Given the description of an element on the screen output the (x, y) to click on. 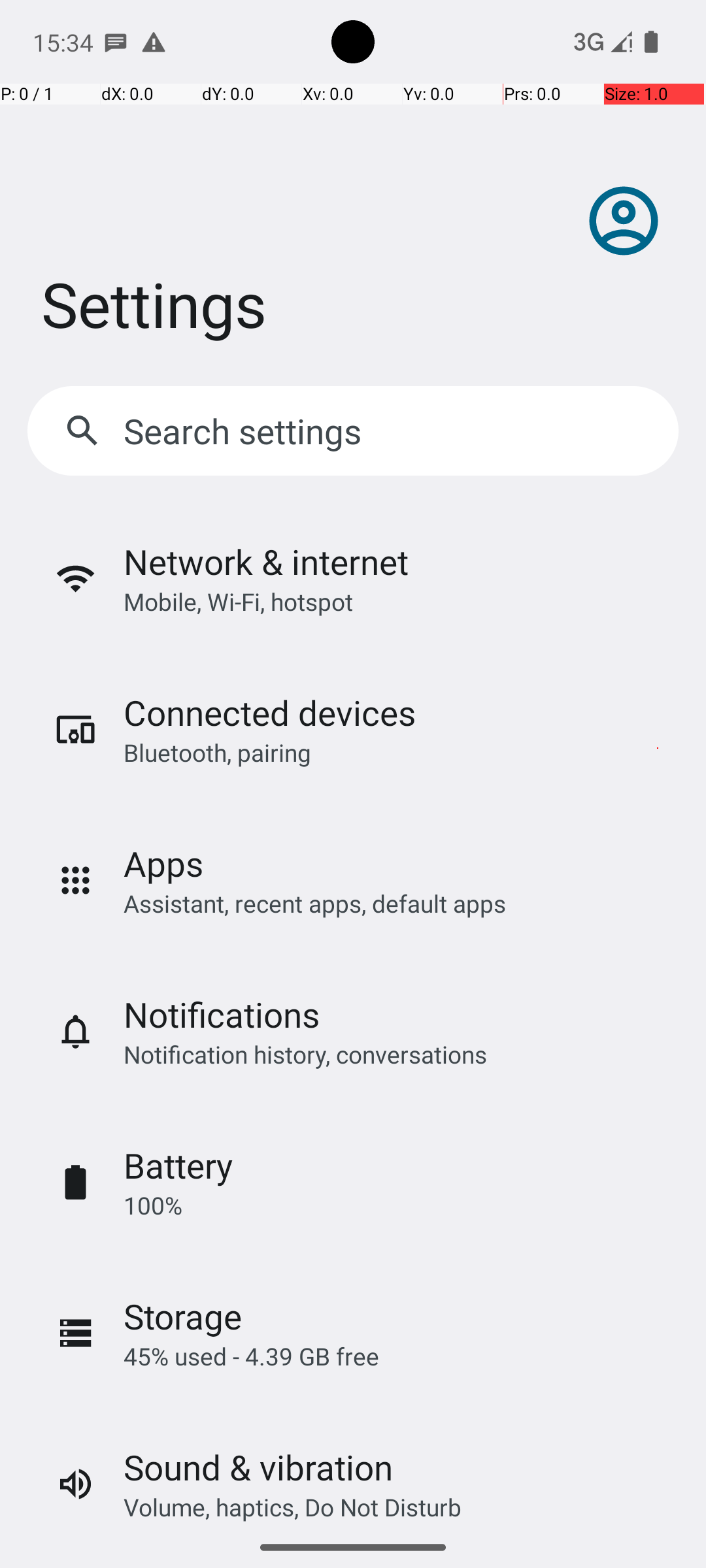
45% used - 4.39 GB free Element type: android.widget.TextView (251, 1355)
